Given the description of an element on the screen output the (x, y) to click on. 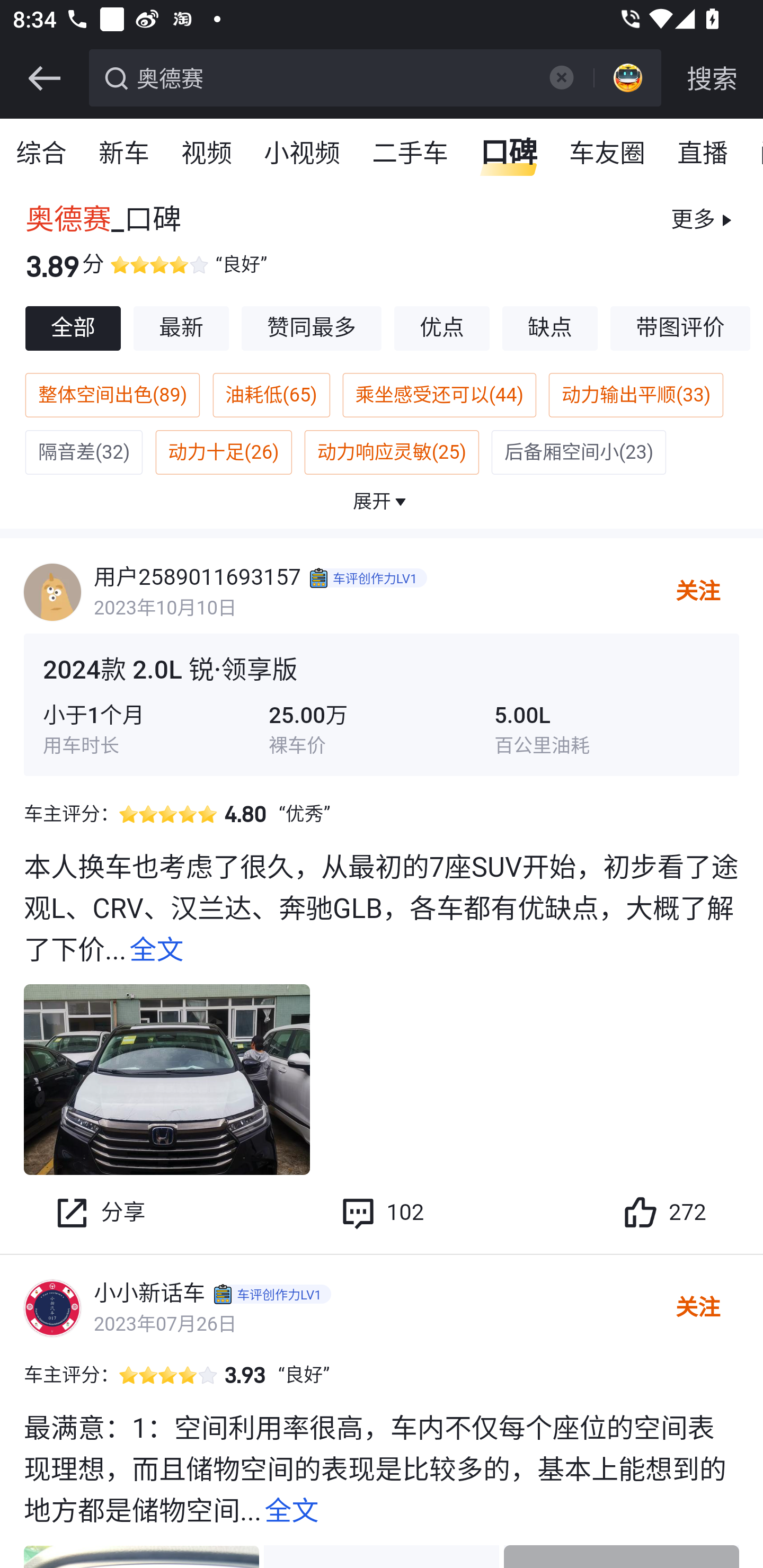
奥德赛 (331, 76)
 (560, 77)
 (44, 78)
搜索 (711, 78)
综合 (41, 153)
新车 (124, 153)
视频 (207, 153)
小视频 (302, 153)
二手车 (410, 153)
口碑 (508, 153)
车友圈 (608, 153)
直播 (703, 153)
更多 (703, 219)
全部 (73, 328)
最新 (181, 328)
赞同最多 (312, 328)
优点 (442, 328)
缺点 (550, 328)
带图评价 (680, 328)
整体空间出色(89) (112, 395)
油耗低(65) (270, 395)
乘坐感受还可以(44) (439, 395)
动力输出平顺(33) (636, 395)
隔音差(32) (84, 452)
动力十足(26) (223, 452)
动力响应灵敏(25) (391, 452)
后备厢空间小(23) (579, 452)
操控出色(18) (410, 509)
关注 (696, 591)
5dca4359462c211ae53ac967efc56334 车评创作力LV1 (369, 577)
分享 (99, 1212)
102 (381, 1212)
272 (663, 1212)
关注 (696, 1308)
5dca4359462c211ae53ac967efc56334 车评创作力LV1 (274, 1294)
